Given the description of an element on the screen output the (x, y) to click on. 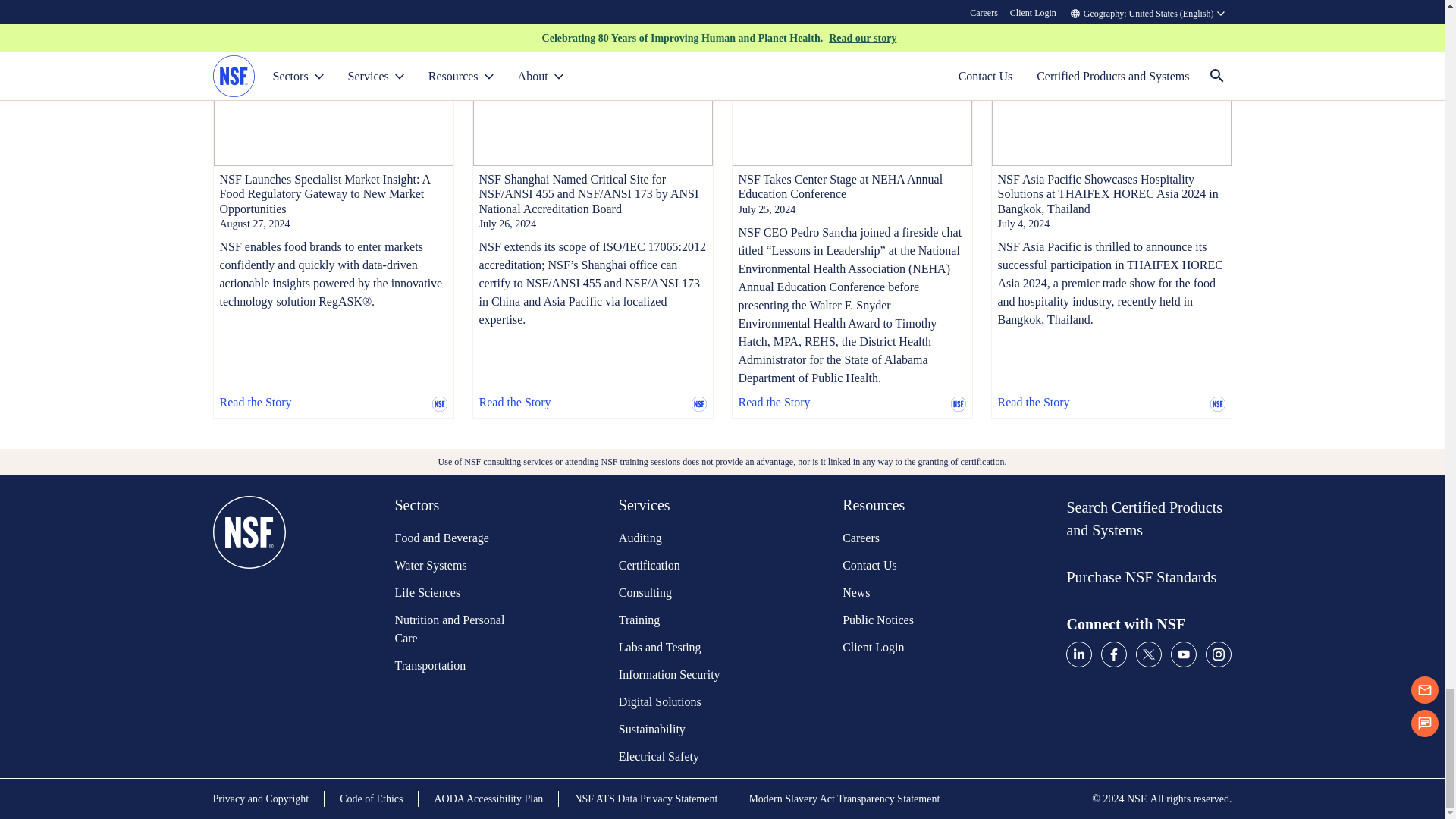
youtube (1183, 654)
twitter (1148, 654)
linkedin (1078, 654)
Water Systems (451, 565)
instagram (1218, 654)
facebook (1113, 654)
Life Sciences (451, 592)
Food and Beverage (451, 538)
